Given the description of an element on the screen output the (x, y) to click on. 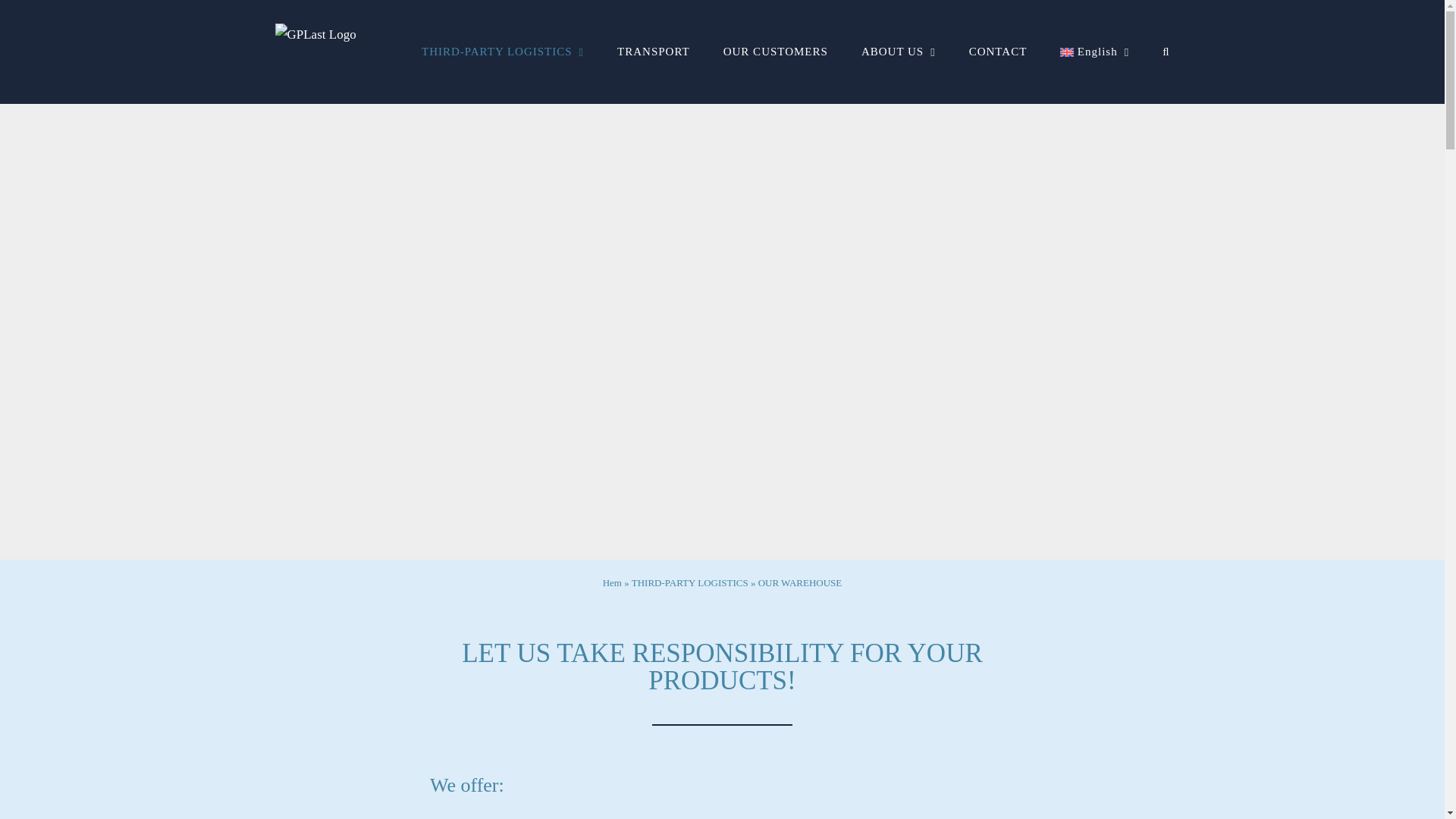
OUR CUSTOMERS (775, 52)
THIRD-PARTY LOGISTICS (502, 52)
